Given the description of an element on the screen output the (x, y) to click on. 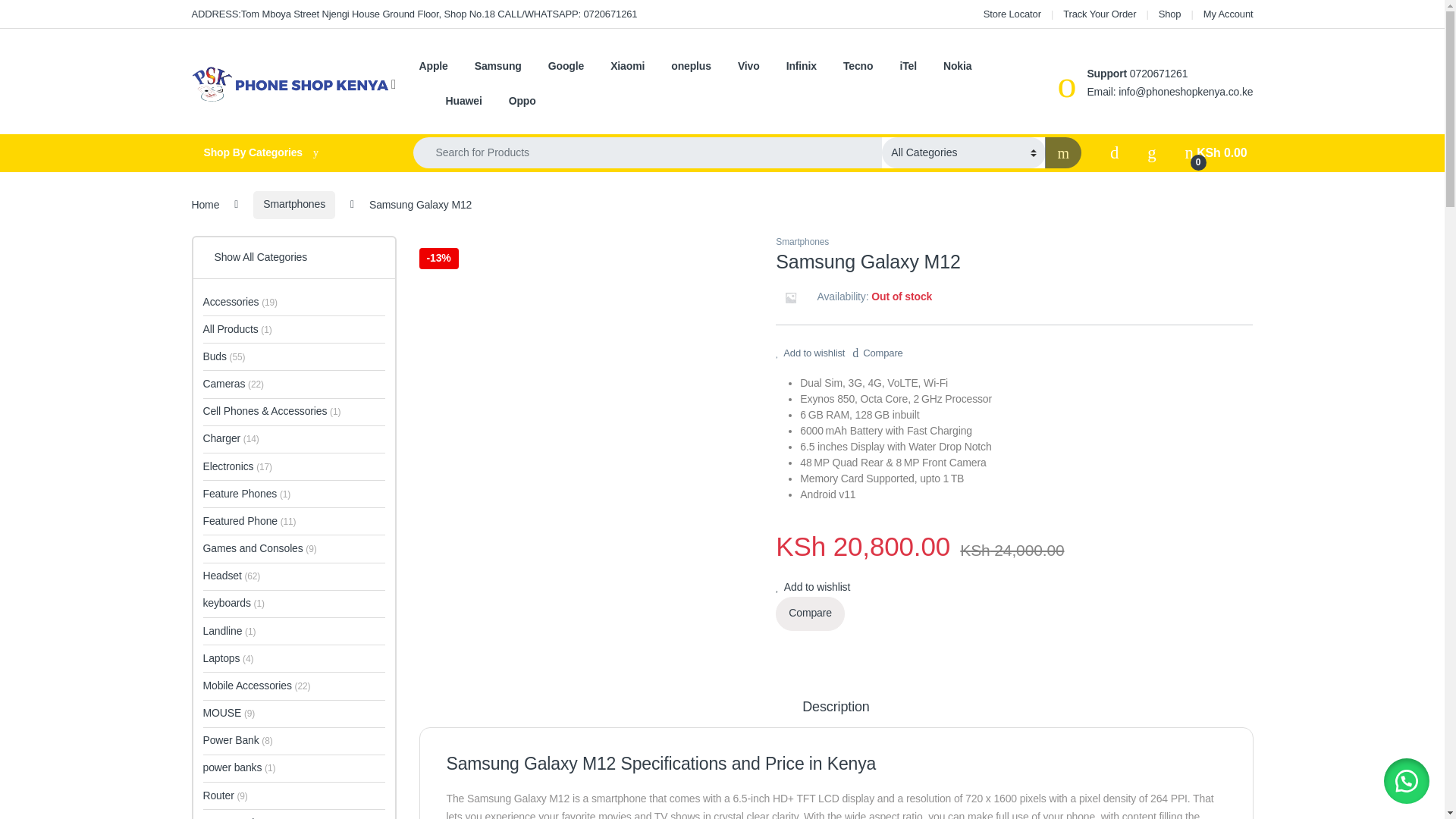
My Account (1228, 13)
Xiaomi (627, 66)
Store Locator (1012, 13)
Store Locator (1012, 13)
oneplus (691, 66)
Huawei (463, 101)
Shop By Categories (287, 152)
Track Your Order (1098, 13)
Samsung (497, 66)
Google (565, 66)
Track Your Order (1098, 13)
My Account (1228, 13)
